Given the description of an element on the screen output the (x, y) to click on. 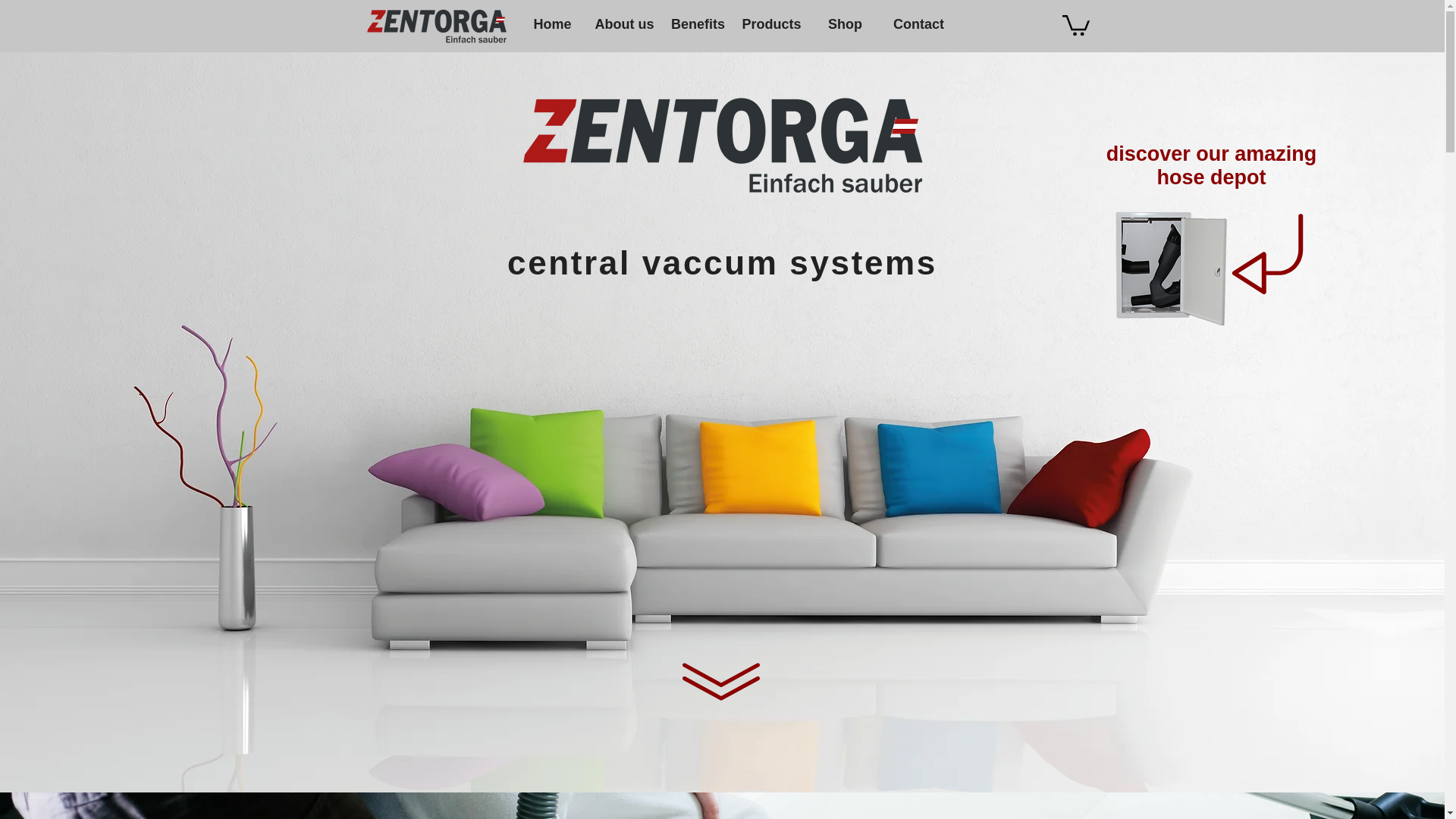
discover our amazing hose depot (1211, 165)
Products (770, 24)
Contact (917, 24)
Benefits (697, 24)
Home (552, 24)
Shop (844, 24)
central vaccum systems (721, 262)
About us (623, 24)
